Given the description of an element on the screen output the (x, y) to click on. 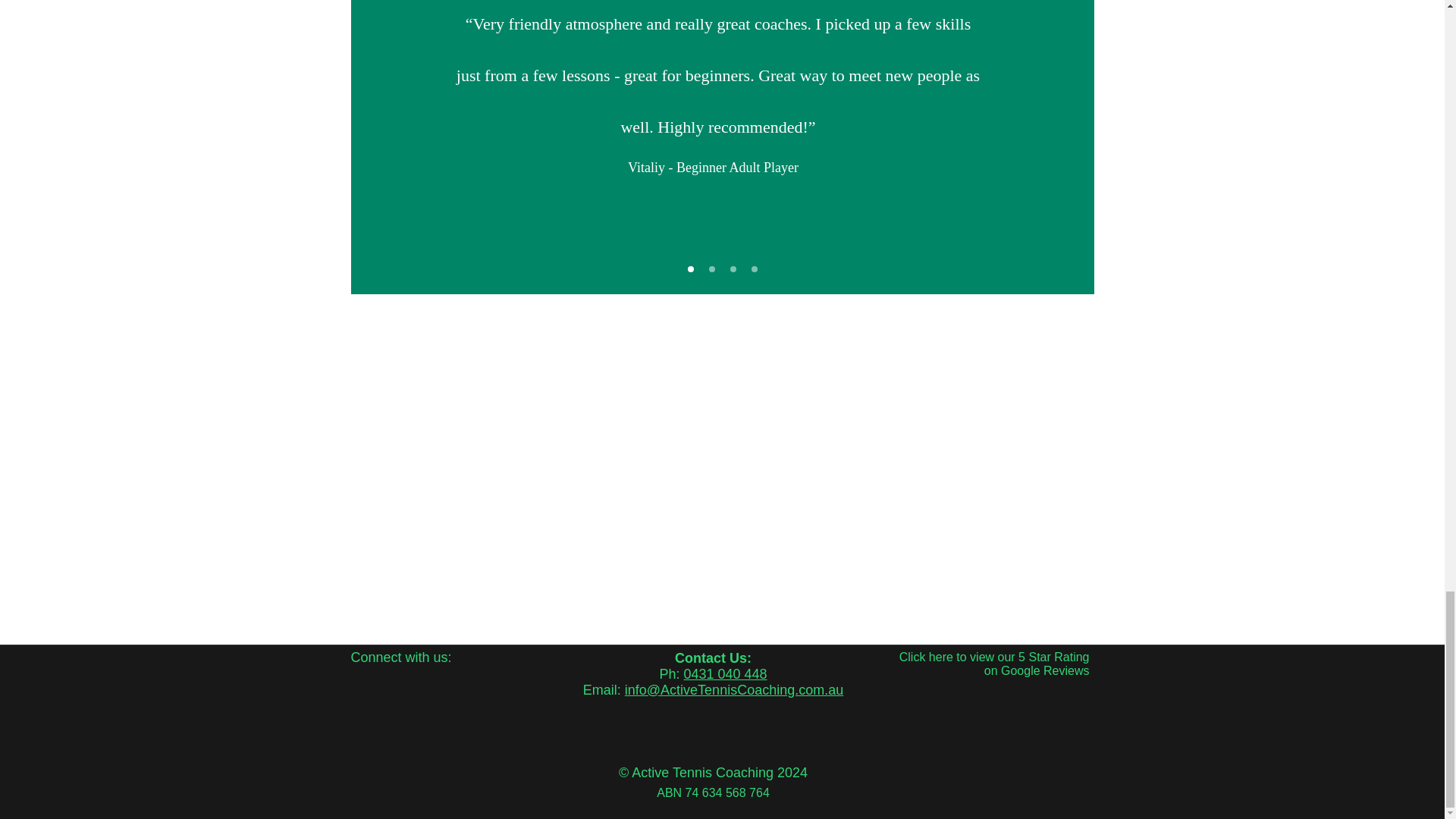
0431 040 448 (724, 673)
Click here (926, 656)
Contact Us: (713, 657)
